Given the description of an element on the screen output the (x, y) to click on. 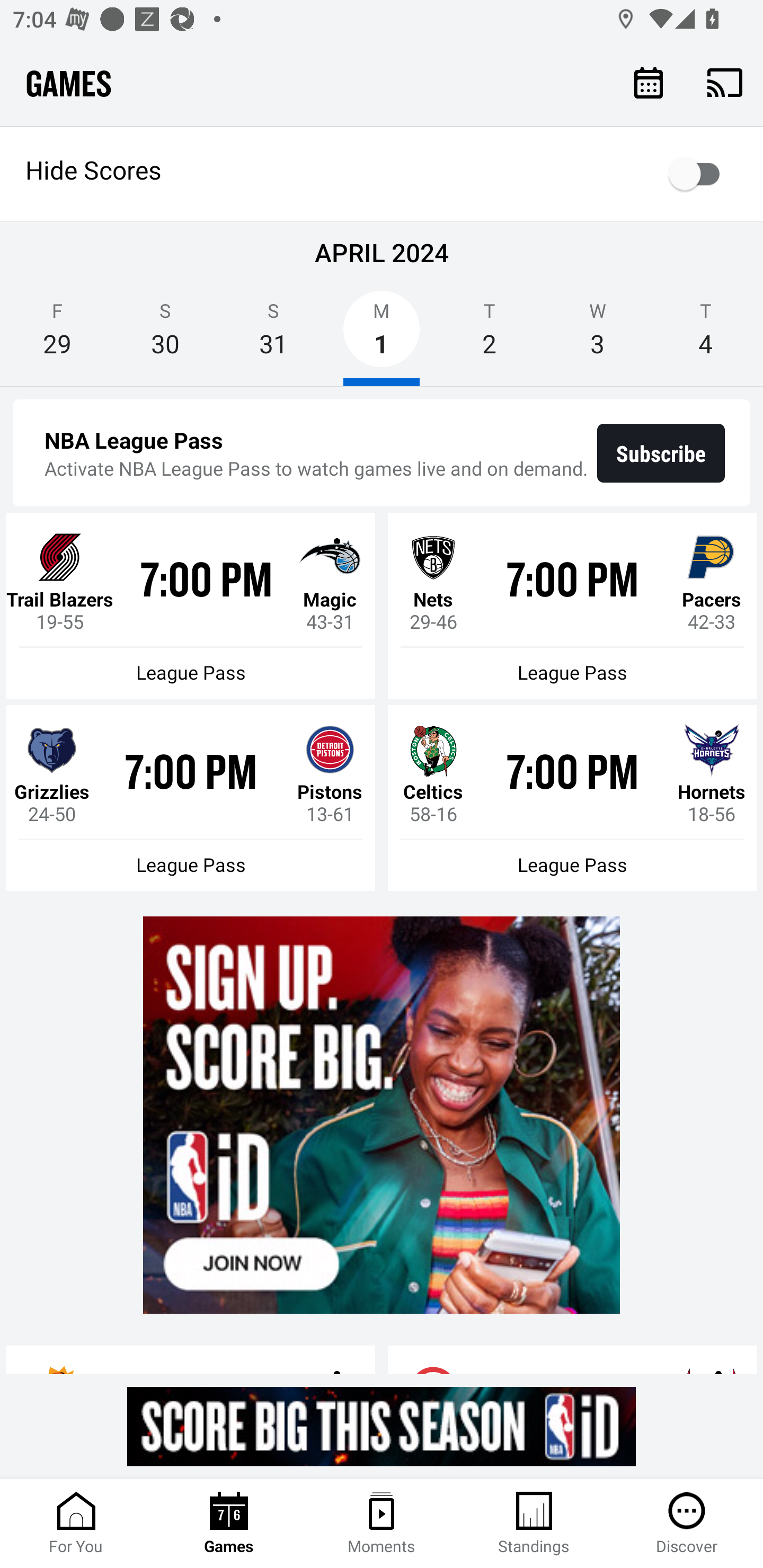
Cast. Disconnected (724, 82)
Calendar (648, 81)
Hide Scores (381, 174)
F 29 (57, 334)
S 30 (165, 334)
S 31 (273, 334)
M 1 (381, 334)
T 2 (489, 334)
W 3 (597, 334)
T 4 (705, 334)
Subscribe (660, 452)
Nets 29-46 7:00 PM Pacers 42-33 League Pass (571, 605)
Grizzlies 24-50 7:00 PM Pistons 13-61 League Pass (190, 797)
Celtics 58-16 7:00 PM Hornets 18-56 League Pass (571, 797)
g5nqqygr7owph (381, 1114)
g5nqqygr7owph (381, 1426)
For You (76, 1523)
Moments (381, 1523)
Standings (533, 1523)
Discover (686, 1523)
